Given the description of an element on the screen output the (x, y) to click on. 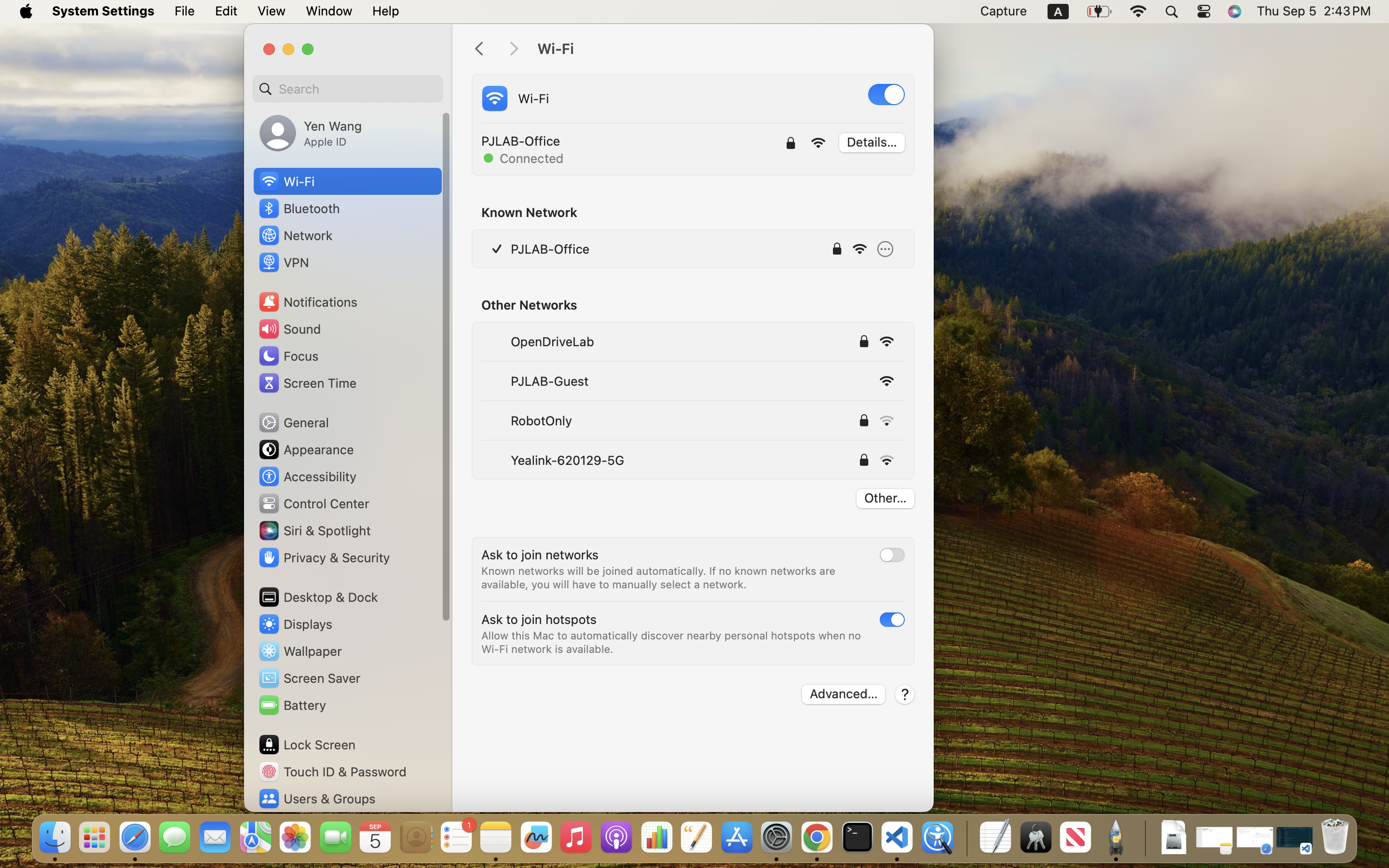
RobotOnly Element type: AXStaticText (540, 420)
Touch ID & Password Element type: AXStaticText (332, 771)
Screen Saver Element type: AXStaticText (308, 677)
PJLAB-Guest Element type: AXStaticText (549, 380)
Siri & Spotlight Element type: AXStaticText (313, 530)
